Given the description of an element on the screen output the (x, y) to click on. 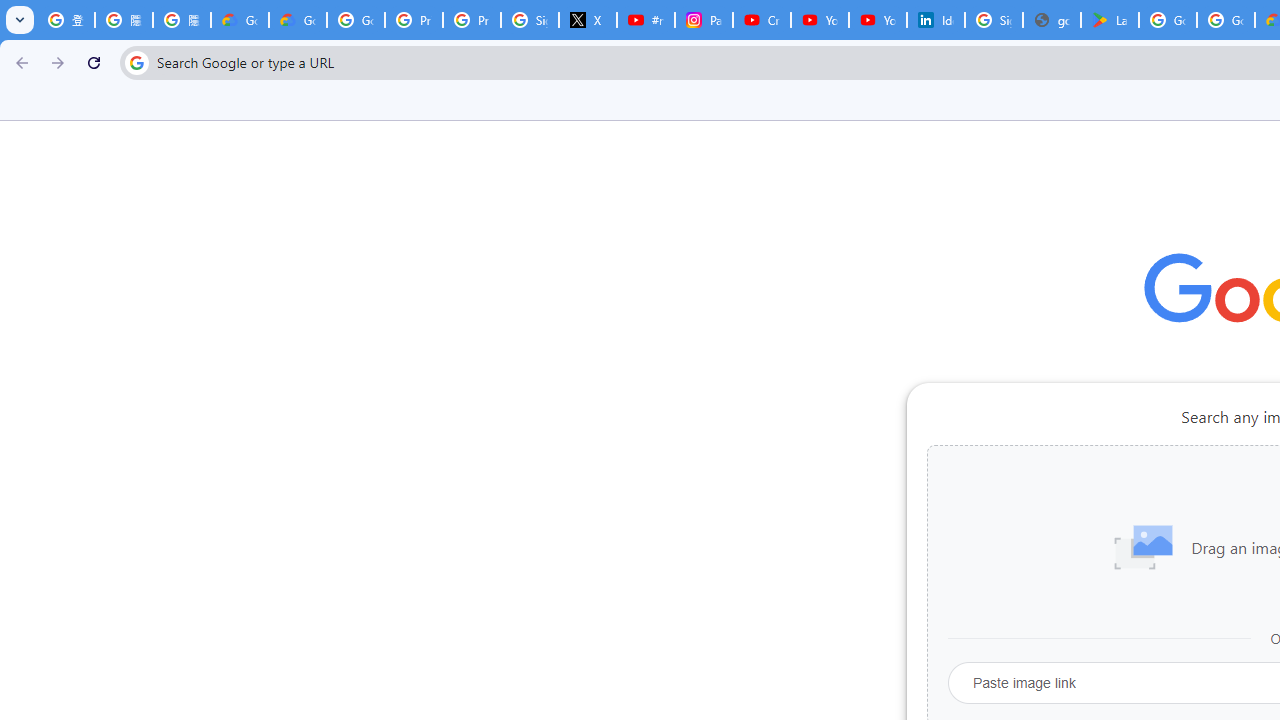
Search icon (136, 62)
Last Shelter: Survival - Apps on Google Play (1110, 20)
X (587, 20)
google_privacy_policy_en.pdf (1051, 20)
Google Cloud Privacy Notice (297, 20)
#nbabasketballhighlights - YouTube (645, 20)
Sign in - Google Accounts (993, 20)
